Given the description of an element on the screen output the (x, y) to click on. 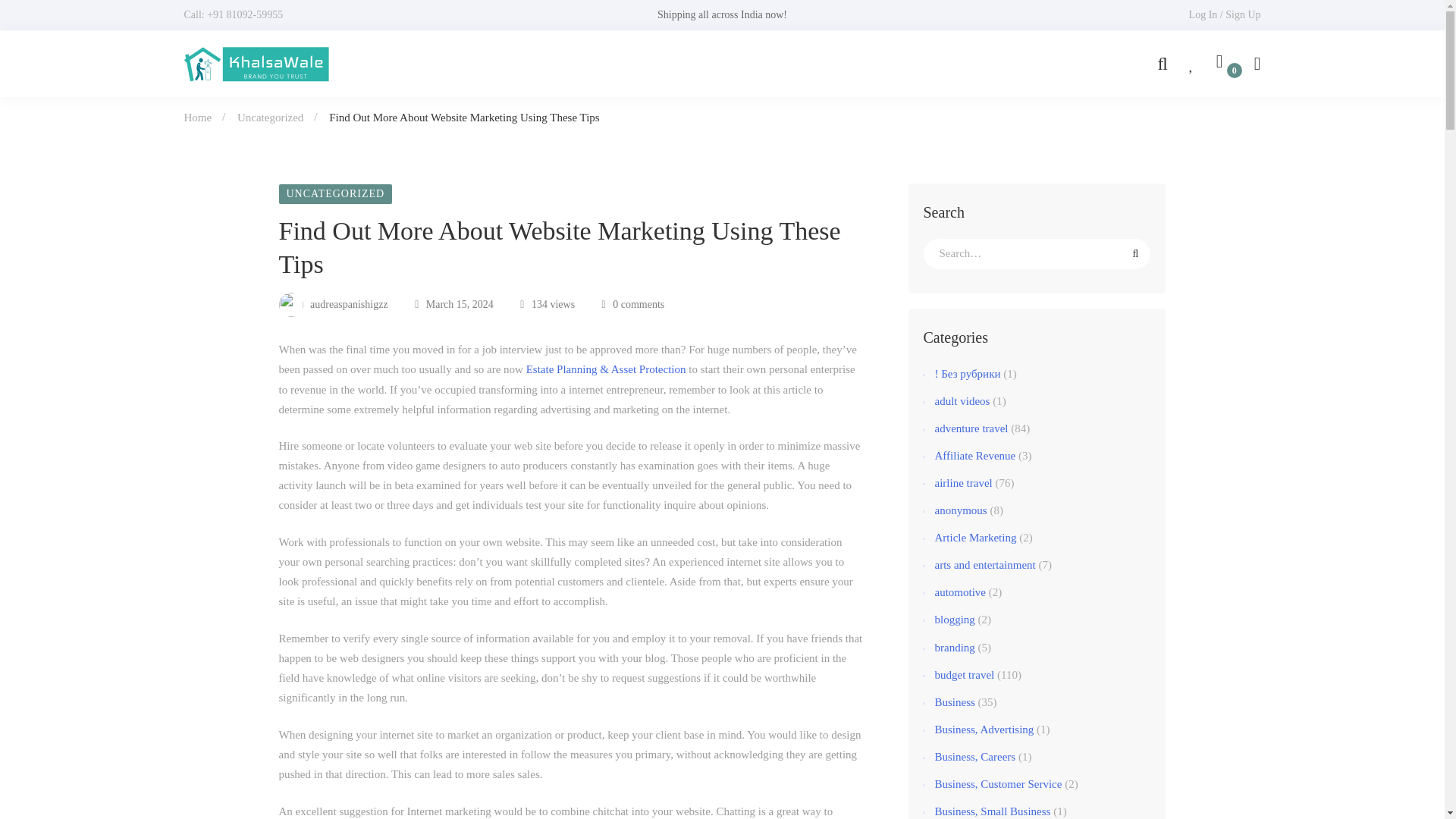
Uncategorized (269, 116)
Home (197, 116)
0 comments (633, 304)
Search for: (1037, 254)
audreaspanishigzz (333, 304)
View your shopping cart (1224, 63)
UNCATEGORIZED (336, 193)
0 comments (633, 304)
